Given the description of an element on the screen output the (x, y) to click on. 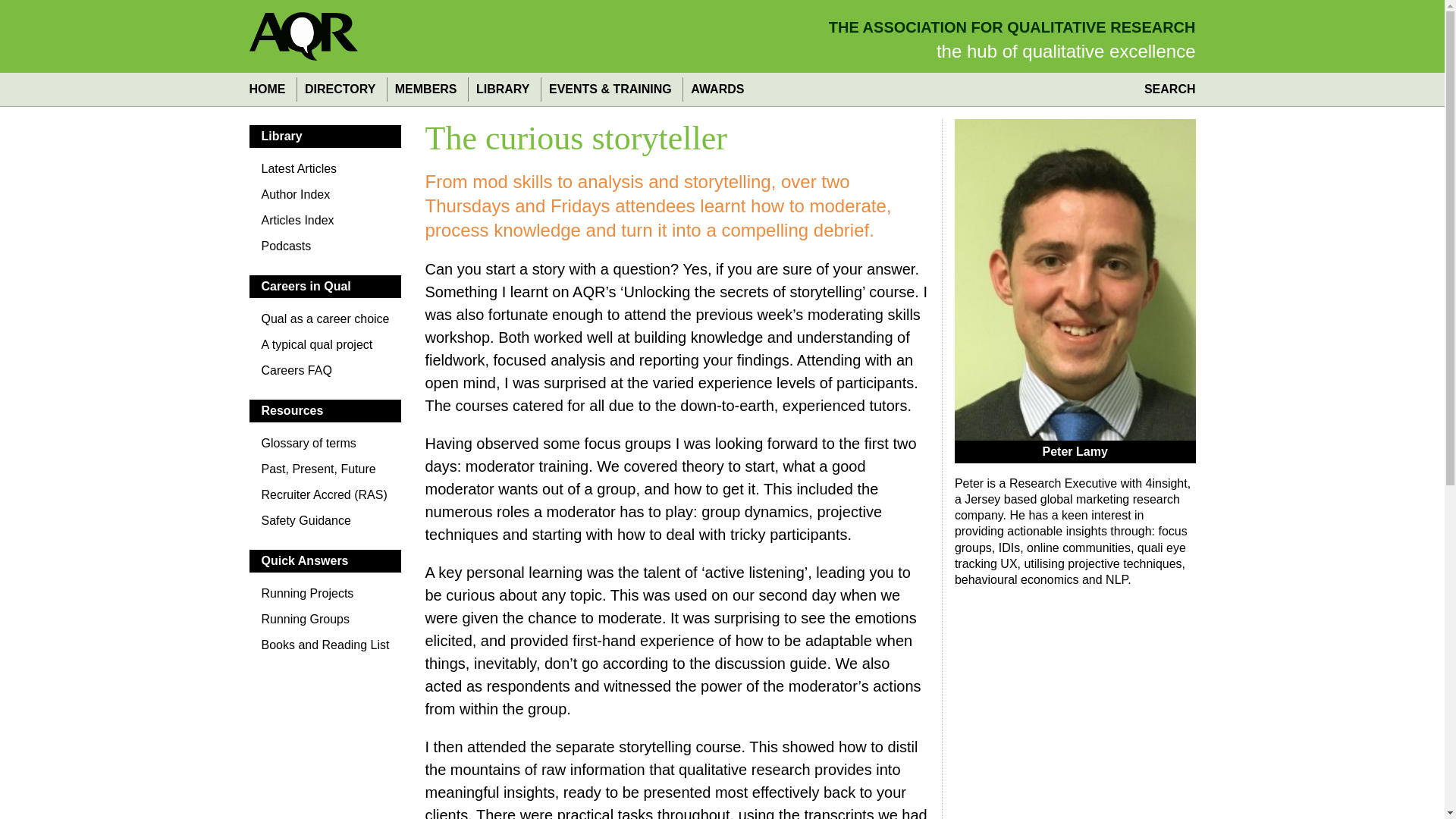
HOME (270, 88)
Glossary of terms (324, 447)
AWARDS (716, 88)
Past, Present, Future (324, 473)
Careers FAQ (324, 374)
Safety Guidance (324, 524)
SEARCH (1166, 88)
Running Groups (324, 623)
A typical qual project (324, 348)
Podcasts (324, 249)
Books and Reading List (324, 648)
Author Index (324, 198)
LIBRARY (502, 88)
Qual as a career choice (324, 322)
Running Projects (324, 597)
